Given the description of an element on the screen output the (x, y) to click on. 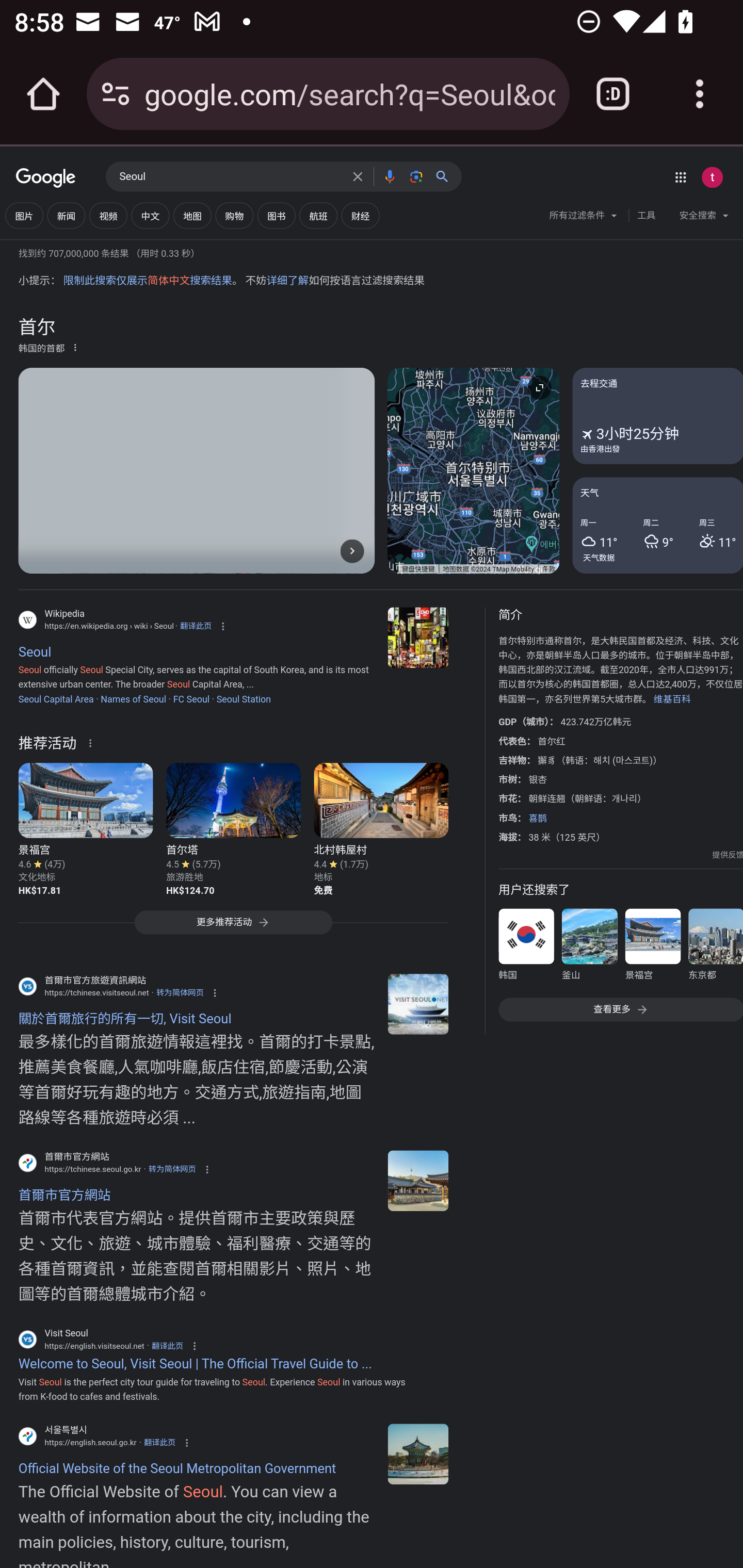
Open the home page (43, 93)
Connection is secure (115, 93)
Switch or close tabs (612, 93)
Customize and control Google Chrome (699, 93)
清除 (357, 176)
按语音搜索 (389, 176)
按图搜索 (415, 176)
搜索 (446, 176)
Google 应用 (680, 176)
Google 账号： test appium (testappium002@gmail.com) (712, 176)
Google (45, 178)
Seoul (229, 177)
图片 (24, 215)
新闻 (65, 215)
视频 (107, 215)
添加“中文” 中文 (149, 215)
地图 (191, 215)
购物 (234, 215)
图书 (276, 215)
航班 (318, 215)
财经 (359, 215)
所有过滤条件 (583, 217)
工具 (646, 215)
安全搜索 (703, 217)
限制此搜索仅展示简体中文搜索结果 限制此搜索仅展示 简体中文 搜索结果 (147, 280)
详细了解 (287, 280)
更多选项 (74, 347)
去程交通 3小时25分钟 乘坐飞机 由香港出發 (657, 415)
展开地图 (539, 386)
天气 周一 高温 11 度 周二 高温 9 度 周三 高温 11 度 (657, 524)
下一张图片 (352, 550)
天气数据 (599, 557)
Seoul (417, 636)
翻译此页 (195, 626)
Seoul Capital Area (55, 698)
Names of Seoul (133, 698)
FC Seoul (190, 698)
Seoul Station (243, 698)
维基百科 (671, 698)
关于这条结果的详细信息 (93, 742)
喜鹊 (537, 817)
提供反馈 (727, 854)
韩国 (526, 947)
釜山 (588, 947)
景福宫 (652, 947)
东京都 (715, 947)
更多推荐活动 (232, 926)
tchinese.visitseoul (417, 1003)
转为简体网页 (179, 992)
查看更多 查看更多 查看更多 (620, 1009)
tchinese.seoul.go (417, 1179)
转为简体网页 (171, 1169)
翻译此页 (167, 1345)
english.seoul.go (417, 1453)
翻译此页 (159, 1442)
